Given the description of an element on the screen output the (x, y) to click on. 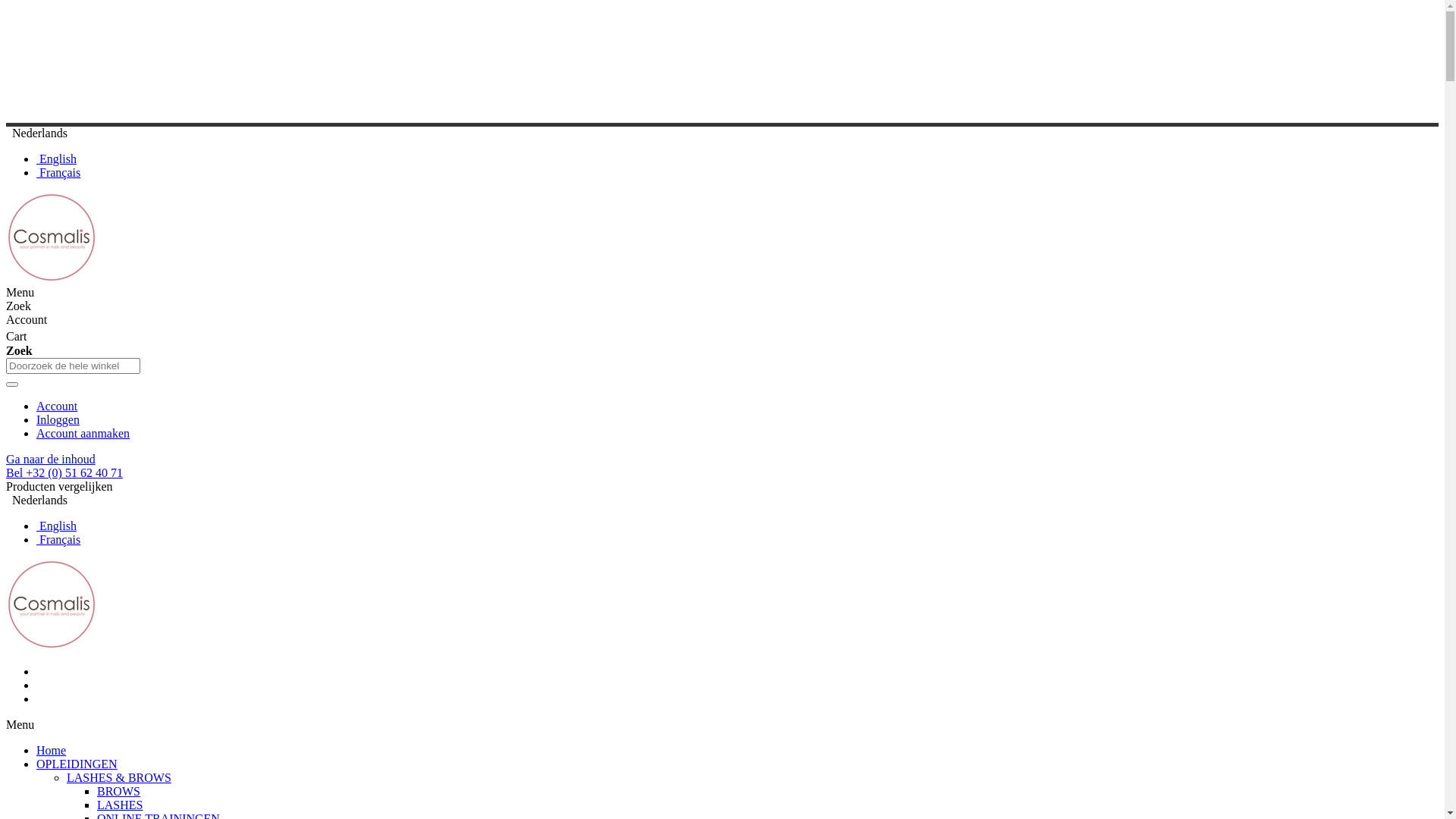
BROWS Element type: text (118, 790)
Account aanmaken Element type: text (82, 432)
 English Element type: text (56, 158)
Inloggen Element type: text (57, 419)
Account Element type: text (56, 405)
Home Element type: text (50, 749)
LASHES Element type: text (119, 804)
OPLEIDINGEN Element type: text (76, 763)
 English Element type: text (56, 525)
Zoek Element type: hover (12, 384)
Producten vergelijken Element type: text (59, 486)
Ga naar de inhoud Element type: text (50, 458)
Bel +32 (0) 51 62 40 71 Element type: text (64, 472)
LASHES & BROWS Element type: text (118, 777)
